Given the description of an element on the screen output the (x, y) to click on. 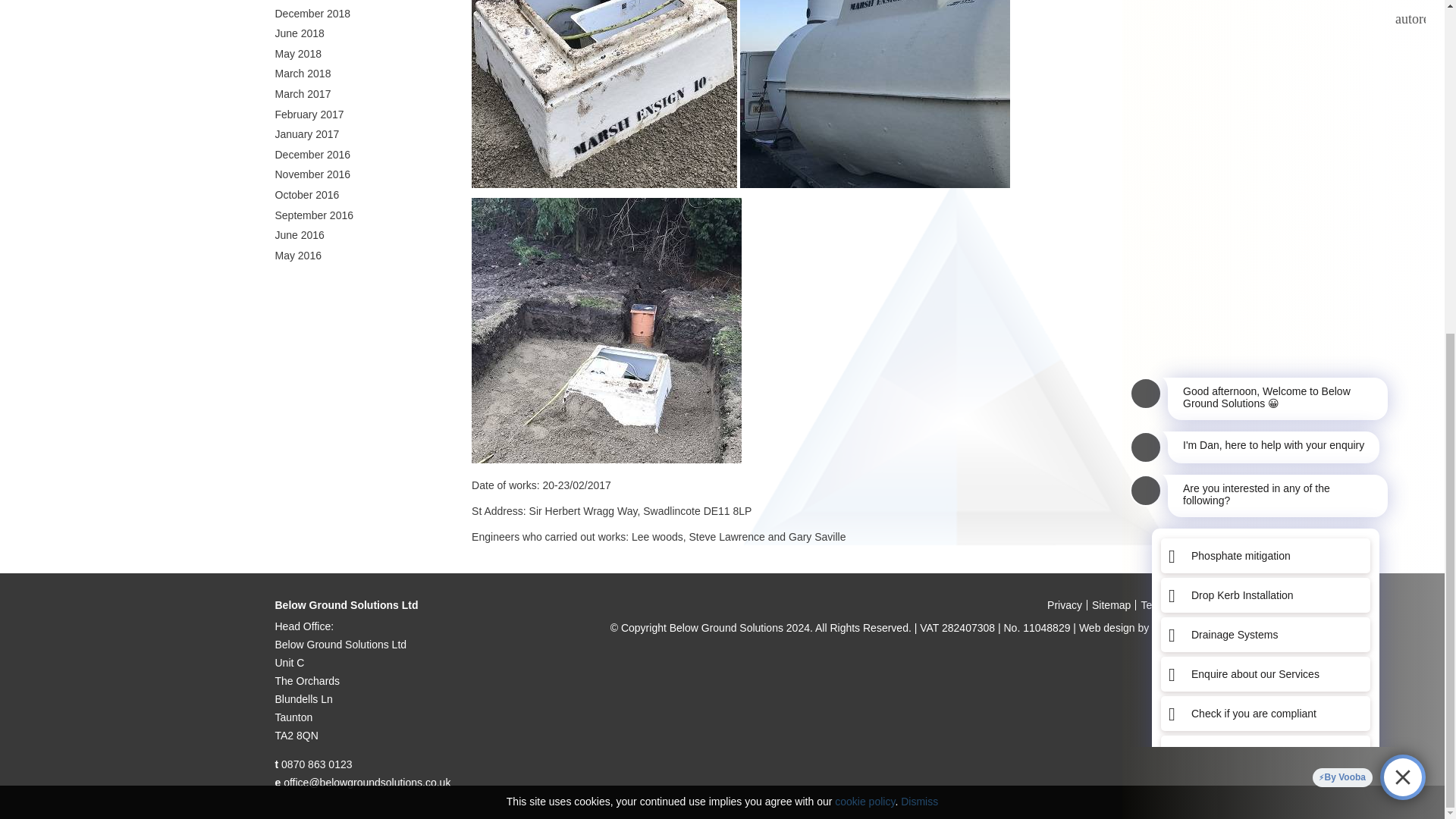
bot-iframe (1273, 131)
